Given the description of an element on the screen output the (x, y) to click on. 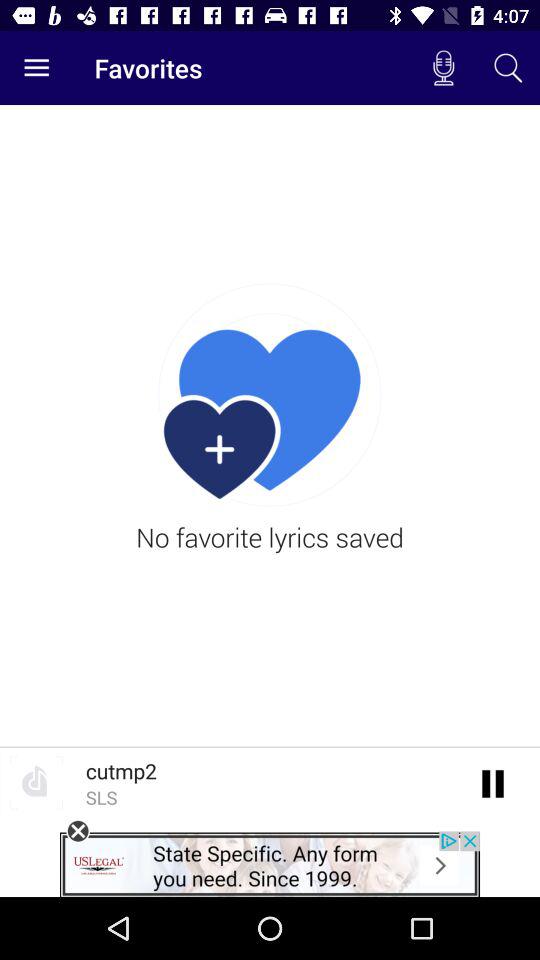
close pop up (78, 831)
